Given the description of an element on the screen output the (x, y) to click on. 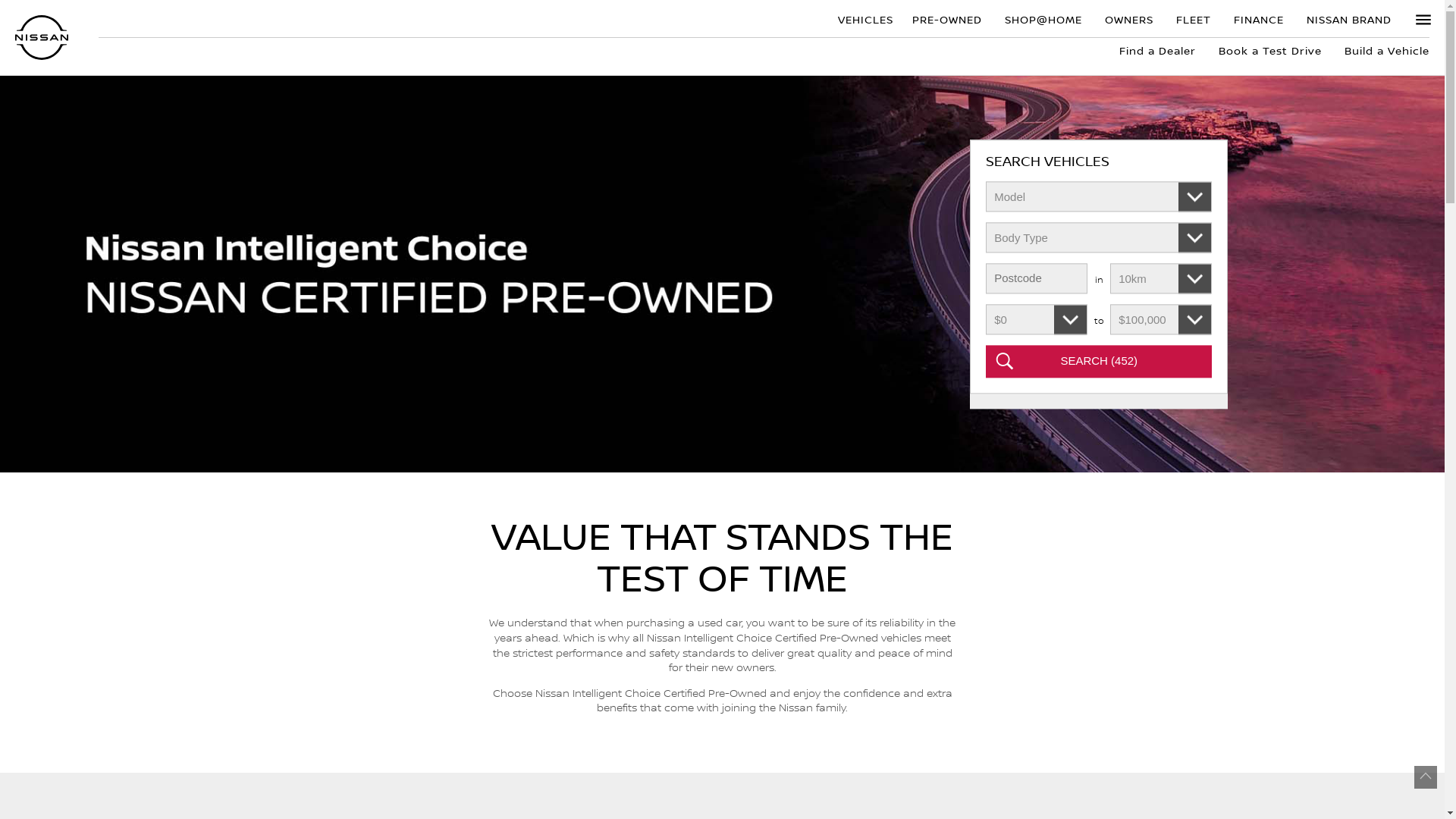
FINANCE Element type: text (1258, 18)
Build a Vehicle Element type: text (1381, 49)
SEARCH (452) Element type: text (1098, 361)
SHOP@HOME Element type: text (1043, 18)
PRE-OWNED Element type: text (946, 18)
FLEET Element type: text (1193, 18)
NISSAN BRAND Element type: text (1348, 18)
Nissan Australia Element type: hover (41, 37)
VEHICLES Element type: text (863, 18)
Find a Dealer Element type: text (1157, 49)
OWNERS Element type: text (1128, 18)
Book a Test Drive Element type: text (1270, 49)
